Given the description of an element on the screen output the (x, y) to click on. 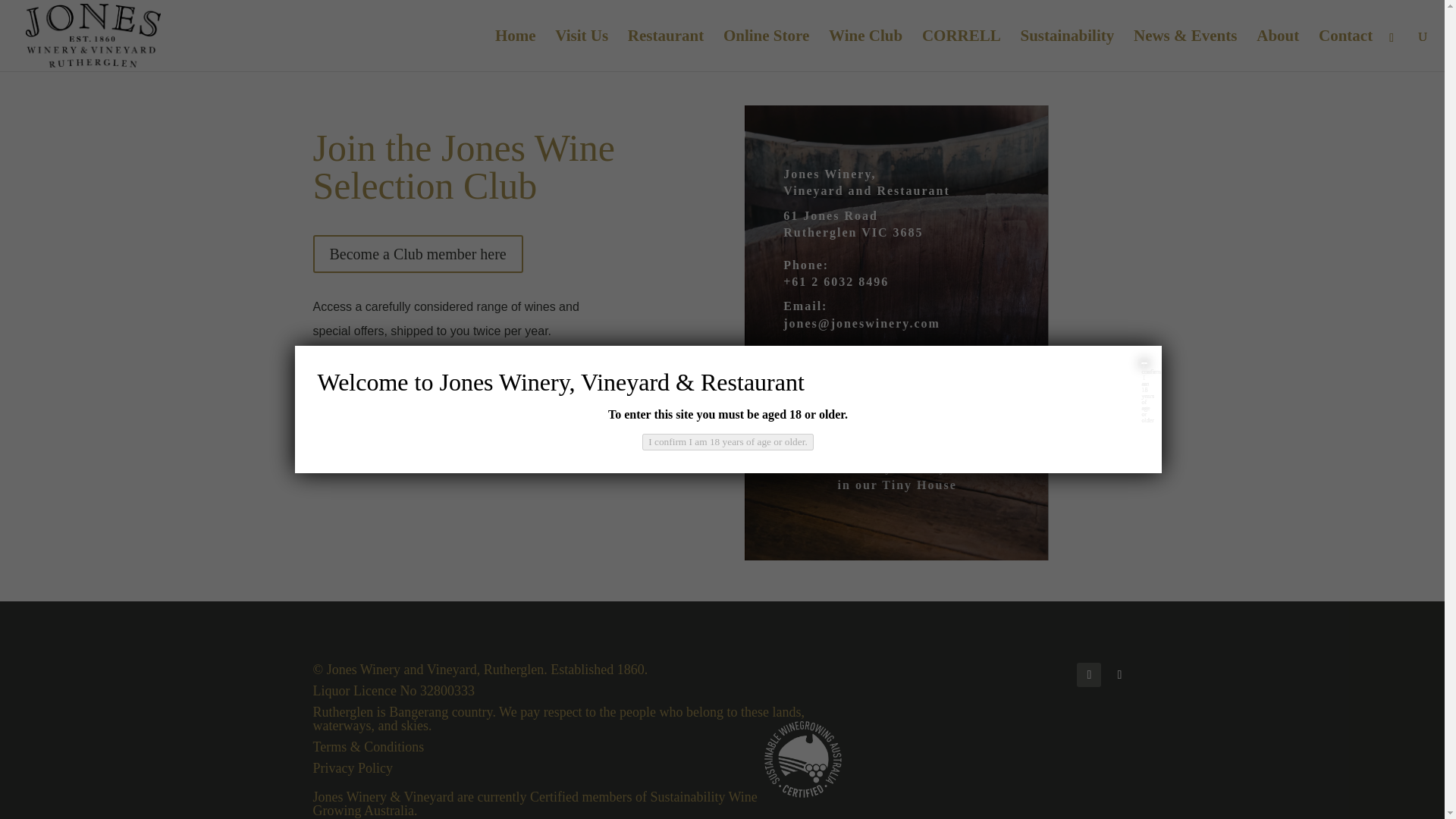
Follow on Instagram (1118, 674)
Follow on Facebook (1088, 674)
